Given the description of an element on the screen output the (x, y) to click on. 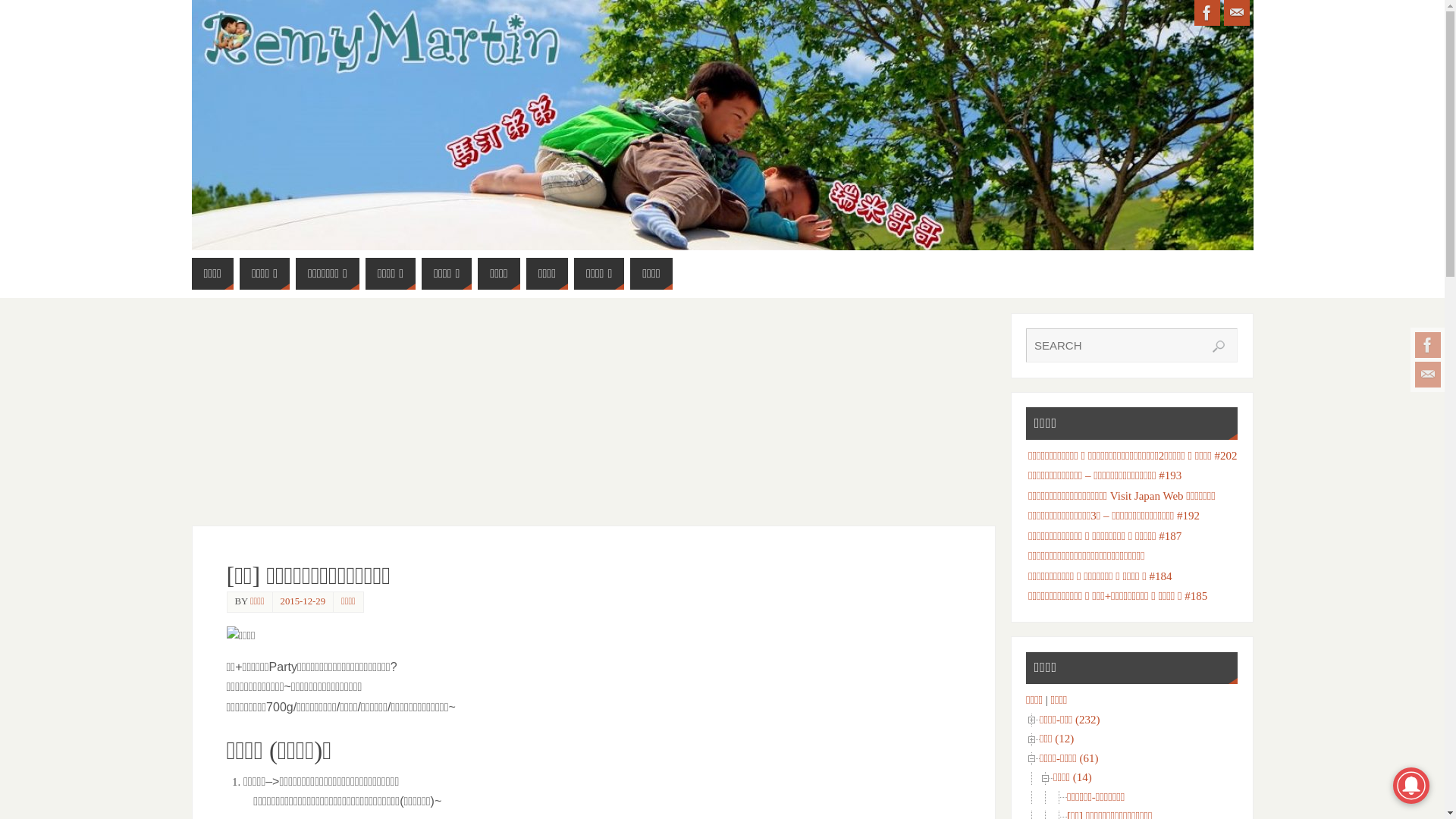
Advertisement Element type: hover (592, 418)
2015-12-29 Element type: text (303, 601)
